Given the description of an element on the screen output the (x, y) to click on. 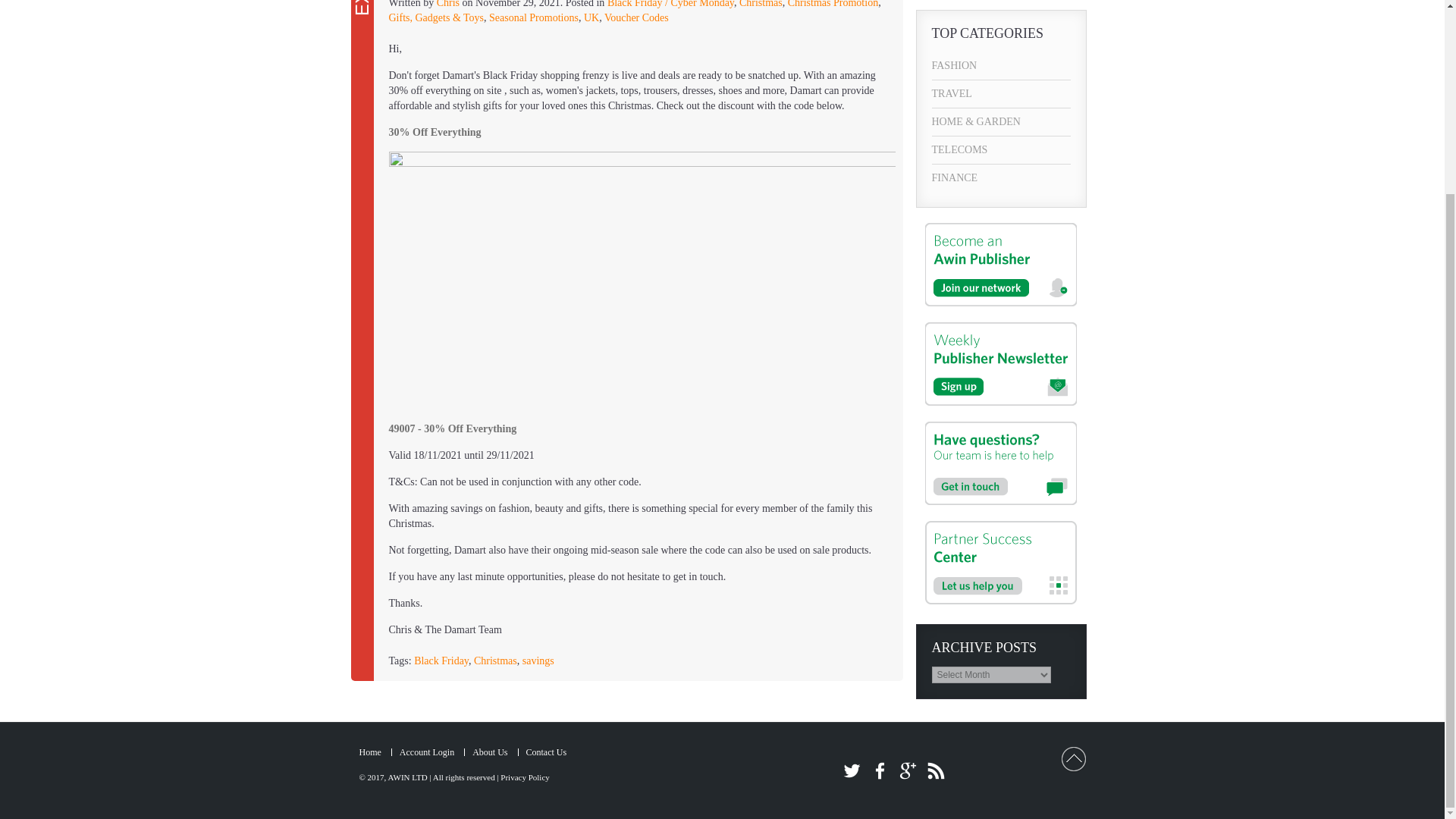
Account Login (426, 752)
Seasonal Promotions (533, 17)
Voucher Codes (636, 17)
savings (538, 660)
UK (590, 17)
Christmas (495, 660)
TRAVEL (1000, 93)
Chris (448, 4)
Home (370, 752)
Chris (448, 4)
